Given the description of an element on the screen output the (x, y) to click on. 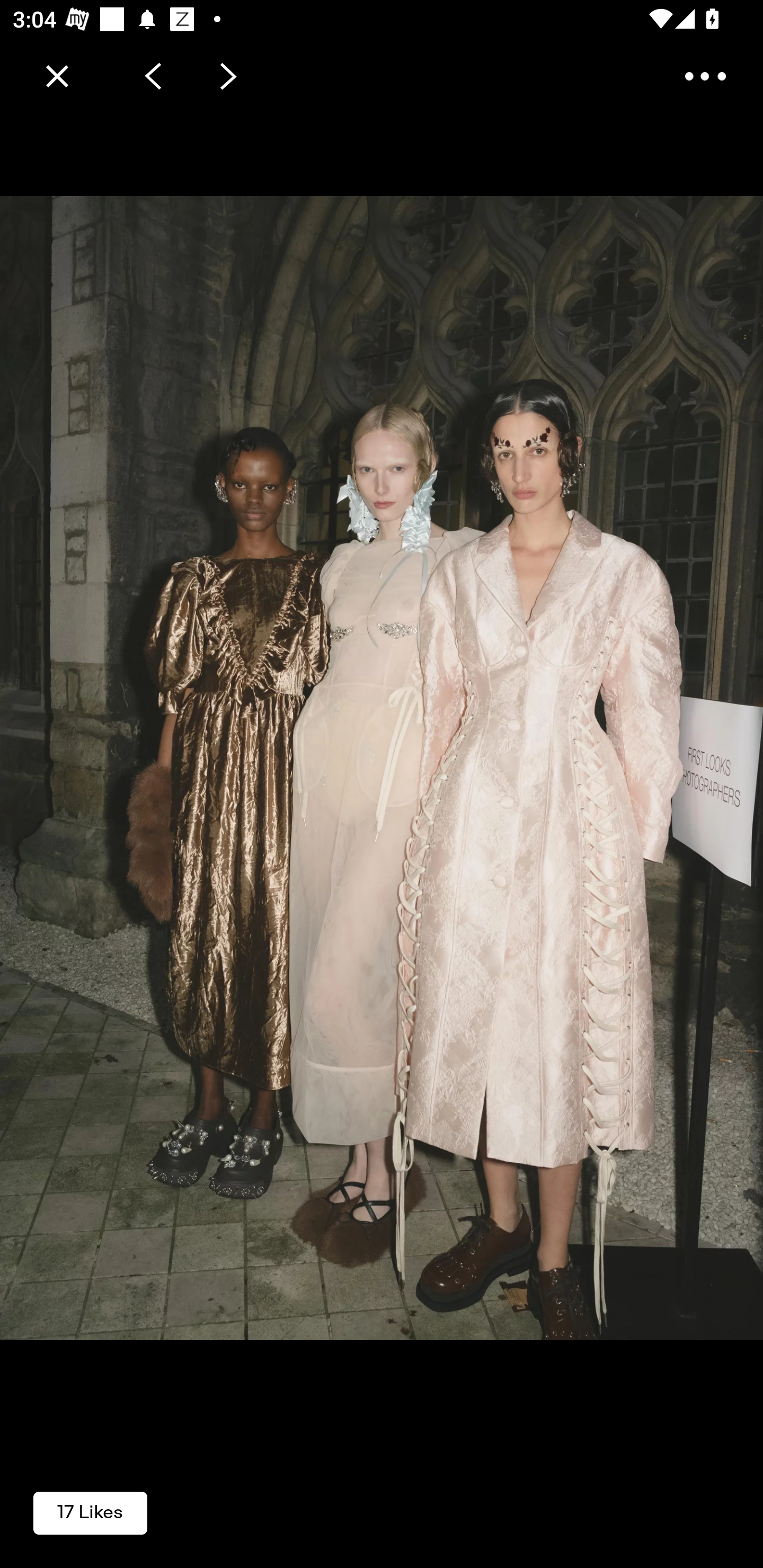
17 Likes (90, 1512)
